Given the description of an element on the screen output the (x, y) to click on. 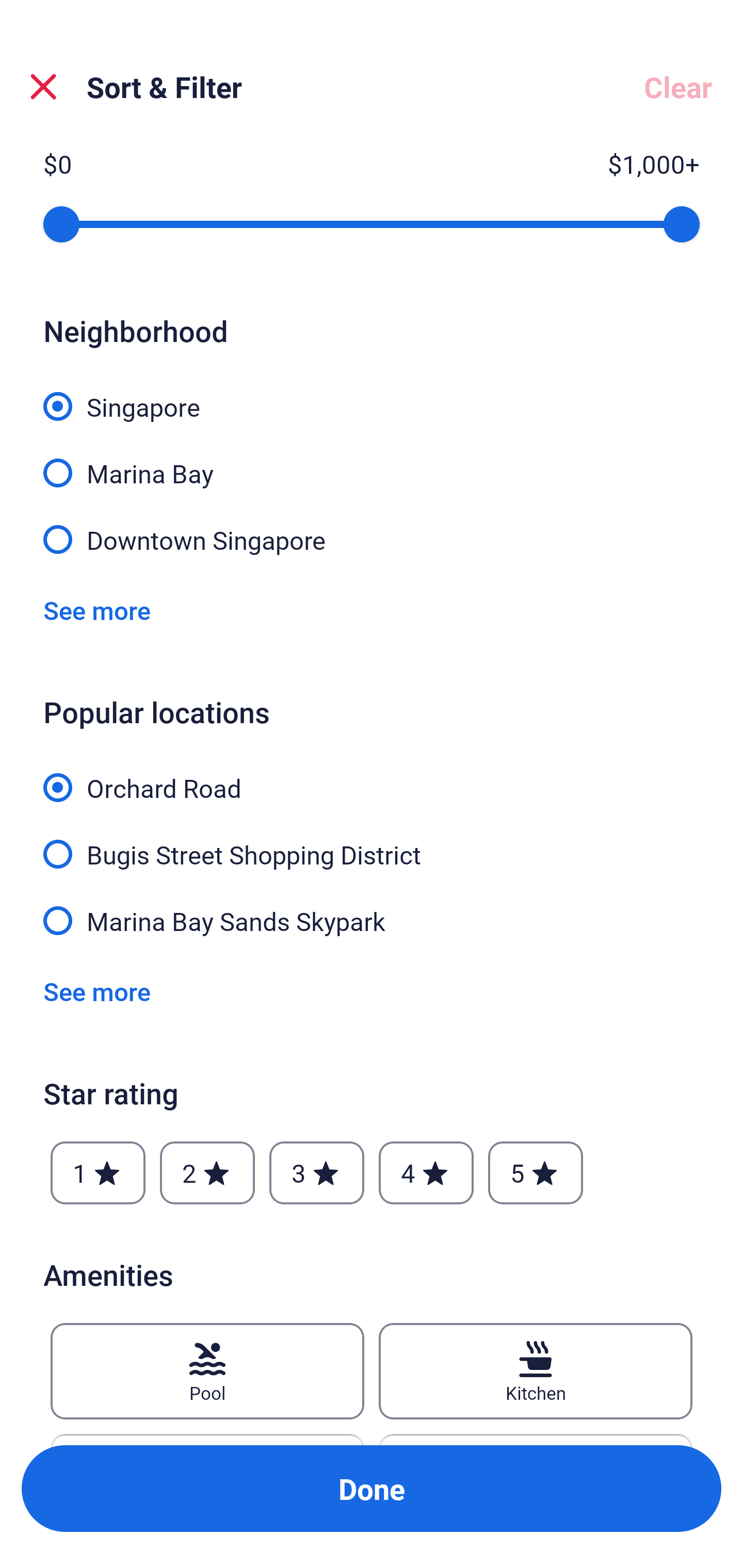
Close Sort and Filter (43, 86)
Clear (677, 86)
Marina Bay (371, 461)
Downtown Singapore (371, 538)
See more See more neighborhoods Link (96, 610)
Bugis Street Shopping District (371, 842)
Marina Bay Sands Skypark (371, 919)
See more See more popular locations Link (96, 991)
1 (97, 1172)
2 (206, 1172)
3 (316, 1172)
4 (426, 1172)
5 (535, 1172)
Pool (207, 1371)
Kitchen (535, 1371)
Apply and close Sort and Filter Done (371, 1488)
